Given the description of an element on the screen output the (x, y) to click on. 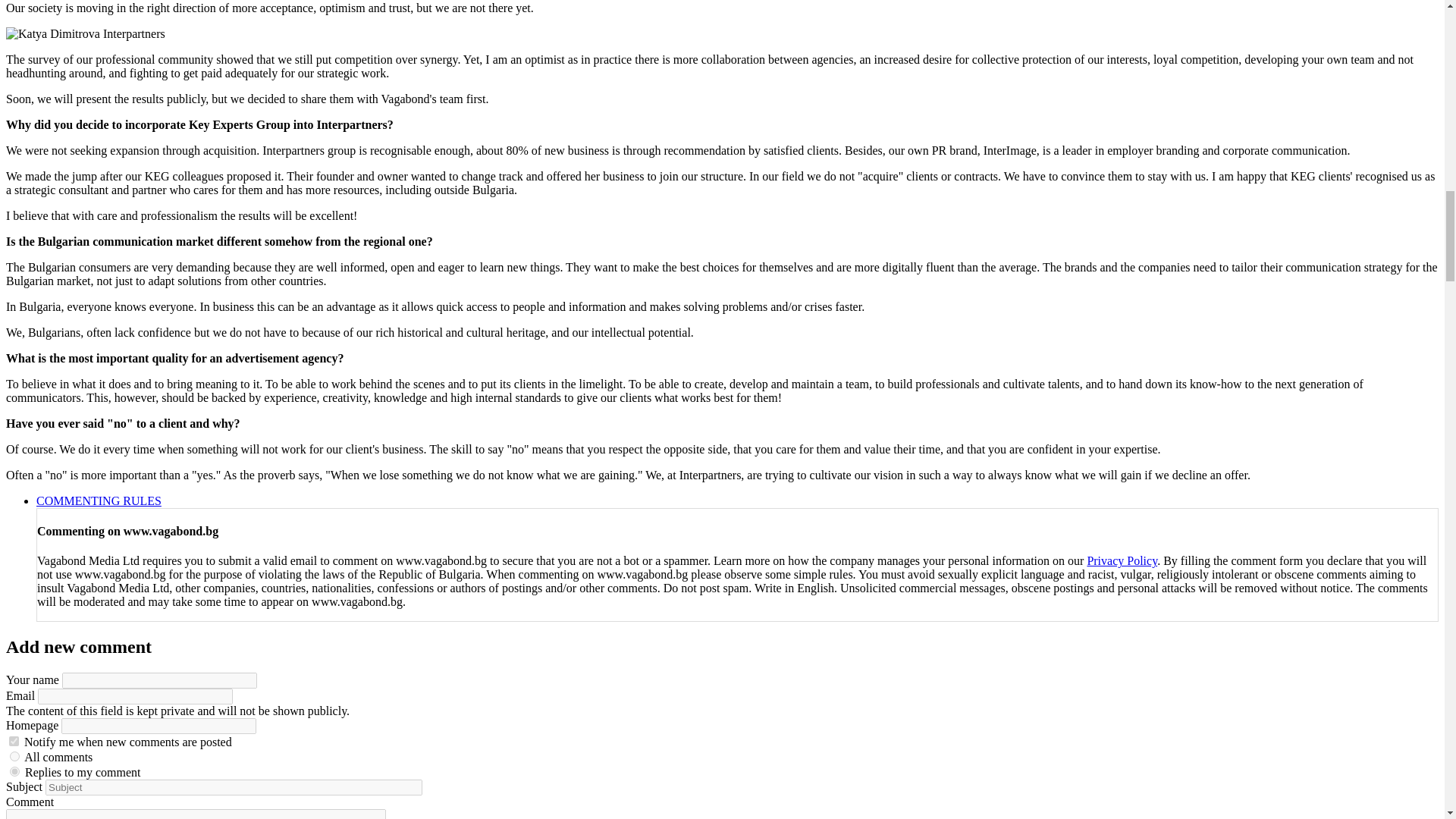
1 (13, 741)
2 (15, 771)
1 (15, 756)
